Given the description of an element on the screen output the (x, y) to click on. 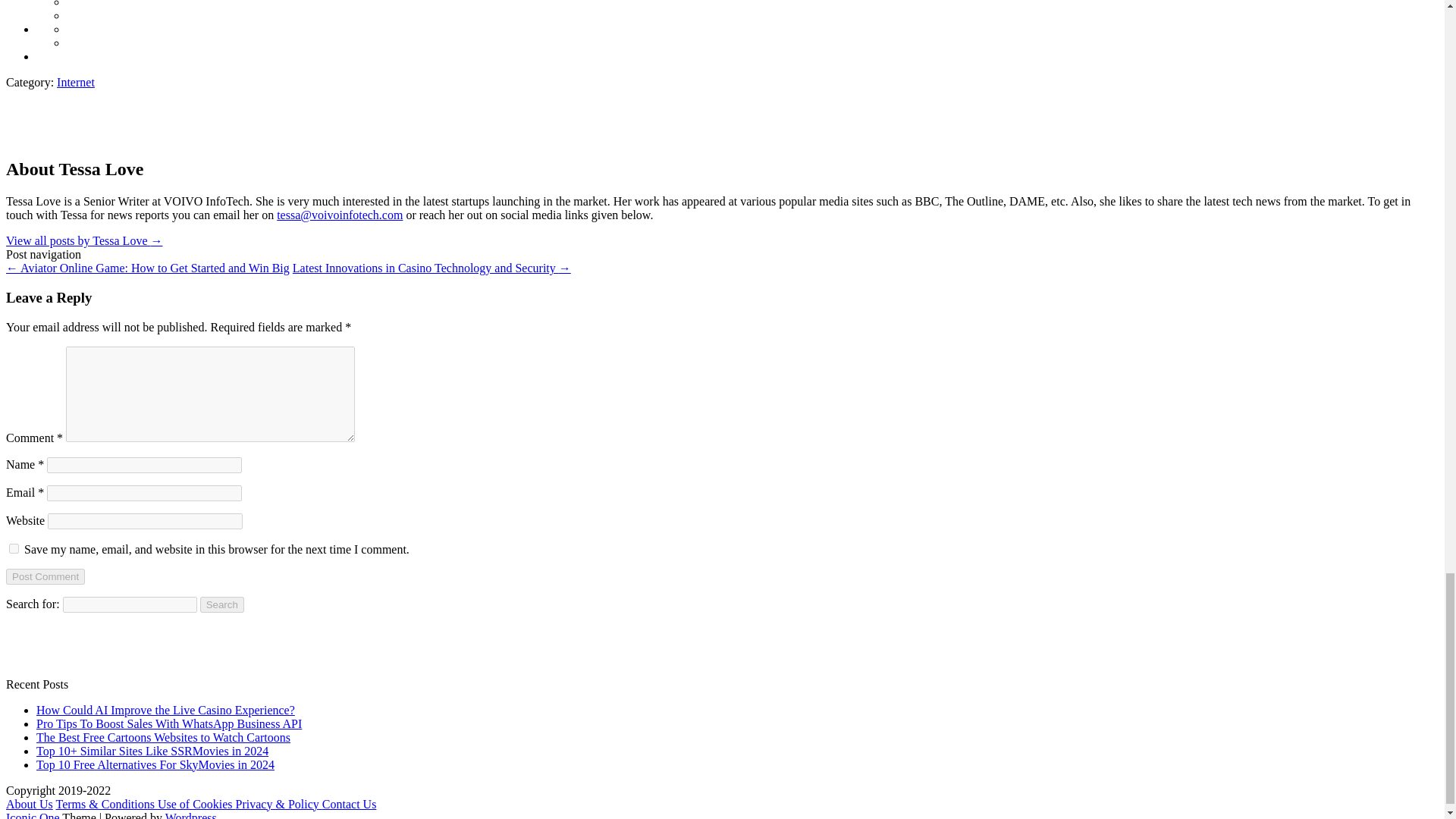
Internet (75, 82)
Use of Cookies (196, 803)
Search (222, 604)
The Best Free Cartoons Websites to Watch Cartoons (162, 737)
Top 10 Free Alternatives For SkyMovies in 2024 (155, 764)
About Us (28, 803)
Post Comment (44, 576)
Post Comment (44, 576)
Contact Us (349, 803)
How Could AI Improve the Live Casino Experience? (165, 709)
Pro Tips To Boost Sales With WhatsApp Business API (168, 723)
yes (13, 548)
Search (222, 604)
